Given the description of an element on the screen output the (x, y) to click on. 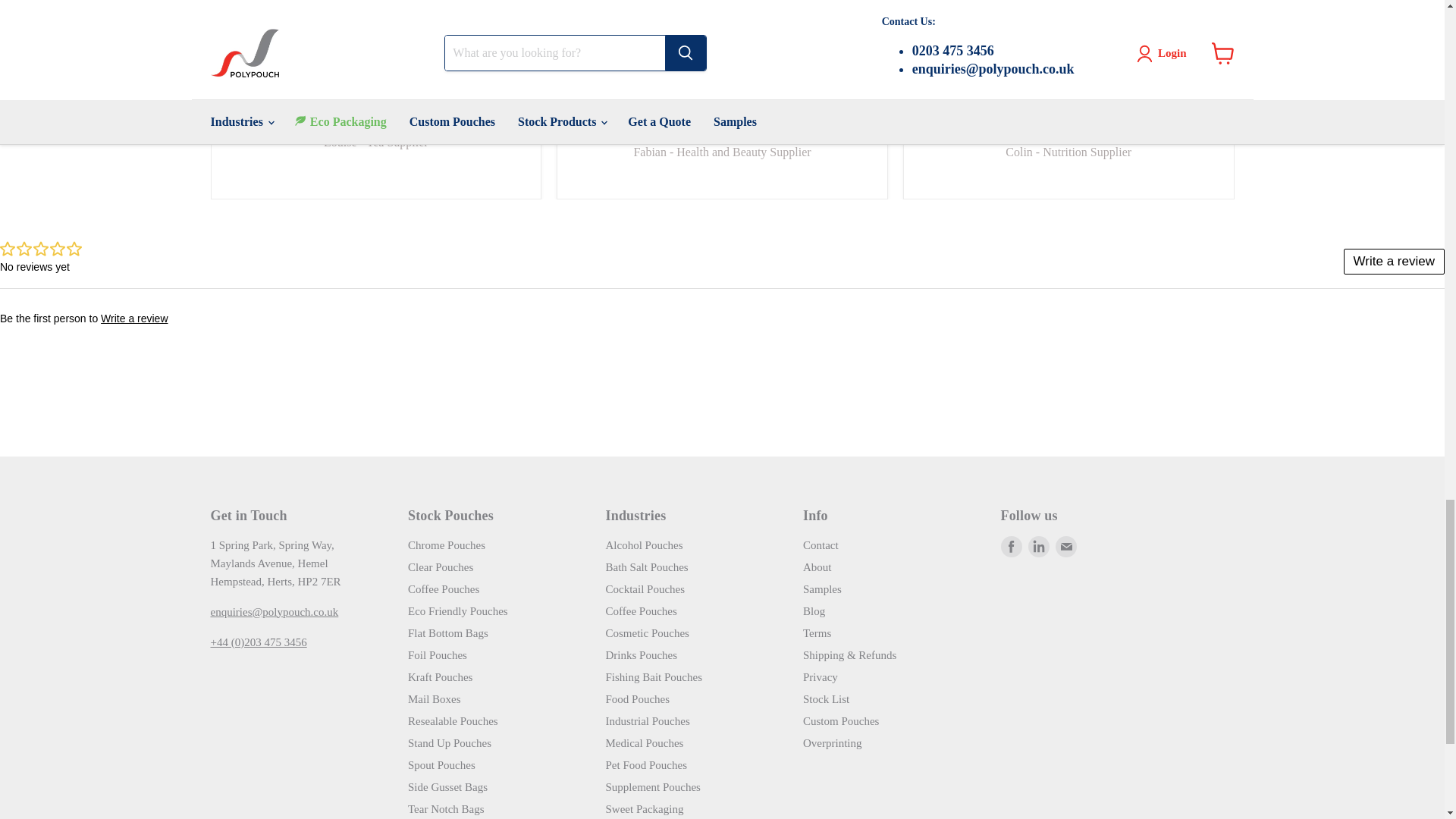
Facebook (1011, 546)
LinkedIn (1038, 546)
Email (1066, 546)
